Given the description of an element on the screen output the (x, y) to click on. 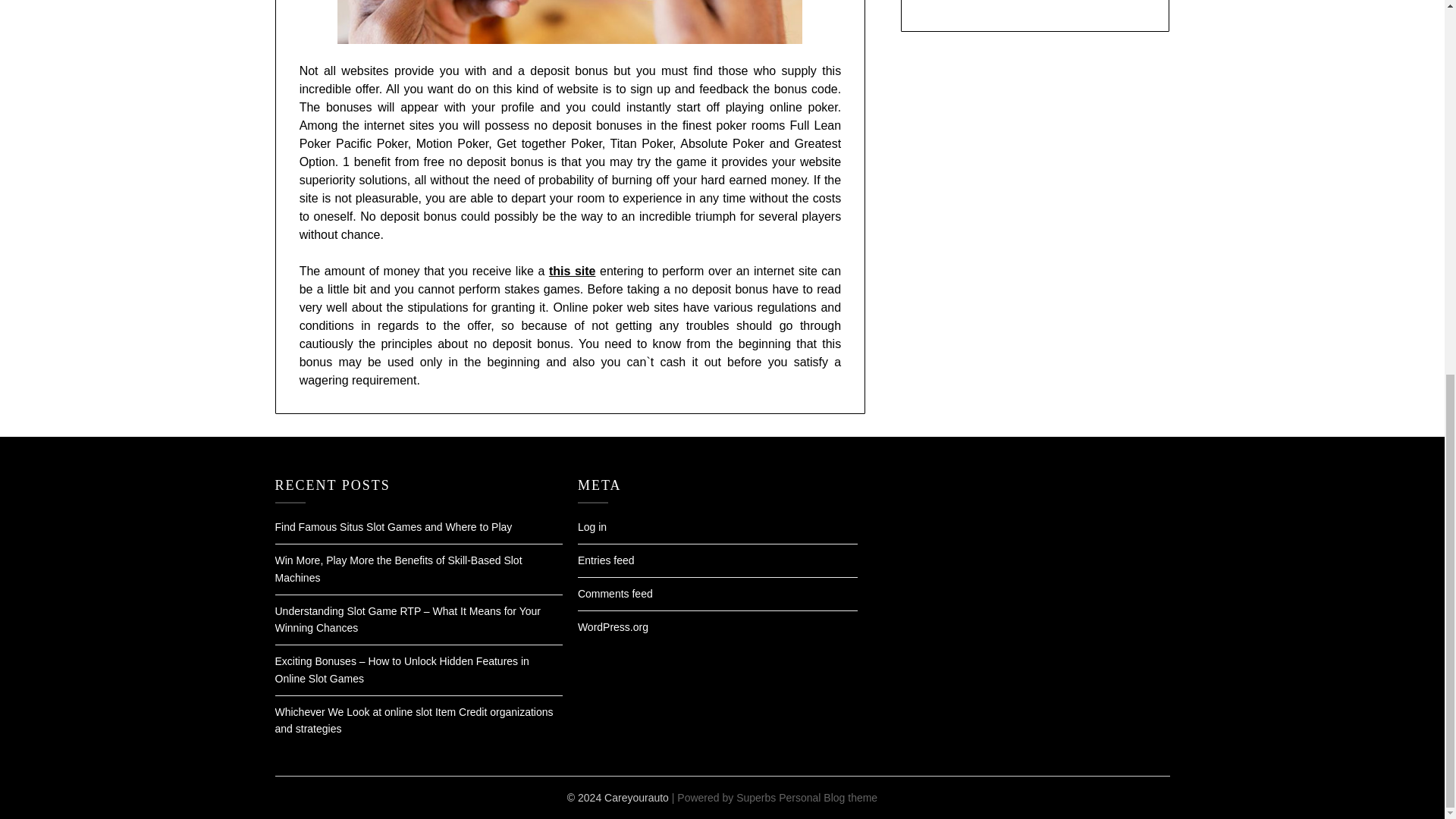
Comments feed (615, 593)
Find Famous Situs Slot Games and Where to Play (393, 526)
this site (571, 270)
WordPress.org (612, 626)
Entries feed (606, 560)
Log in (592, 526)
Personal Blog theme (827, 797)
